Given the description of an element on the screen output the (x, y) to click on. 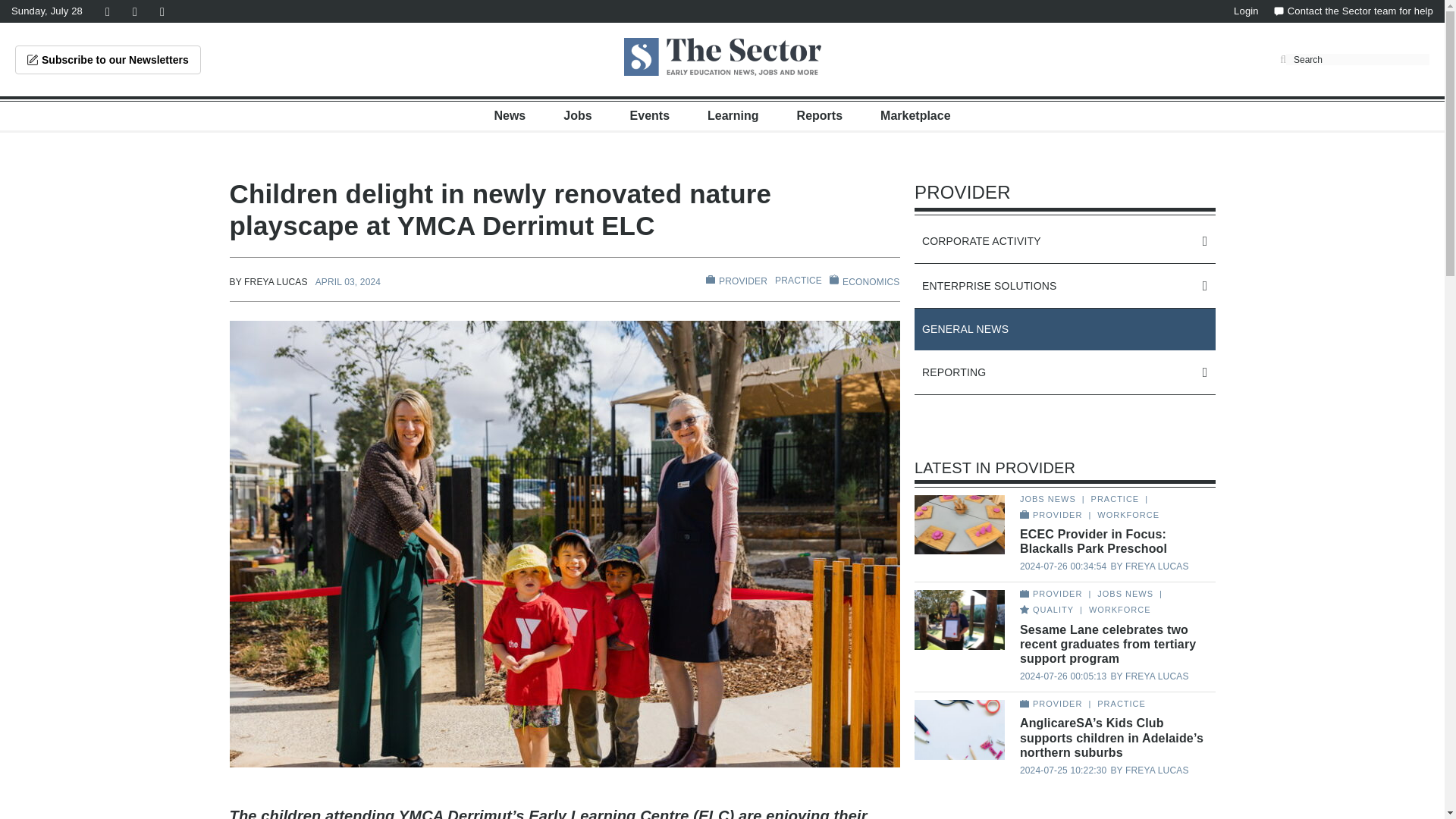
Reports (819, 115)
FILL 11 COPY 7 CREATED WITH SKETCH. PROVIDER (736, 280)
FILL 1 COPY 8 CREATED WITH SKETCH. ECONOMICS (864, 280)
Subscribe to our Newsletters (107, 59)
Learning (732, 115)
News (509, 115)
Jobs (577, 115)
Login (1246, 11)
FILL 1 COPY 8 CREATED WITH SKETCH. (833, 279)
Events (649, 115)
PRACTICE (798, 280)
Marketplace (915, 115)
Contact the Sector team for help (1353, 11)
FILL 11 COPY 7 CREATED WITH SKETCH. (710, 279)
